Given the description of an element on the screen output the (x, y) to click on. 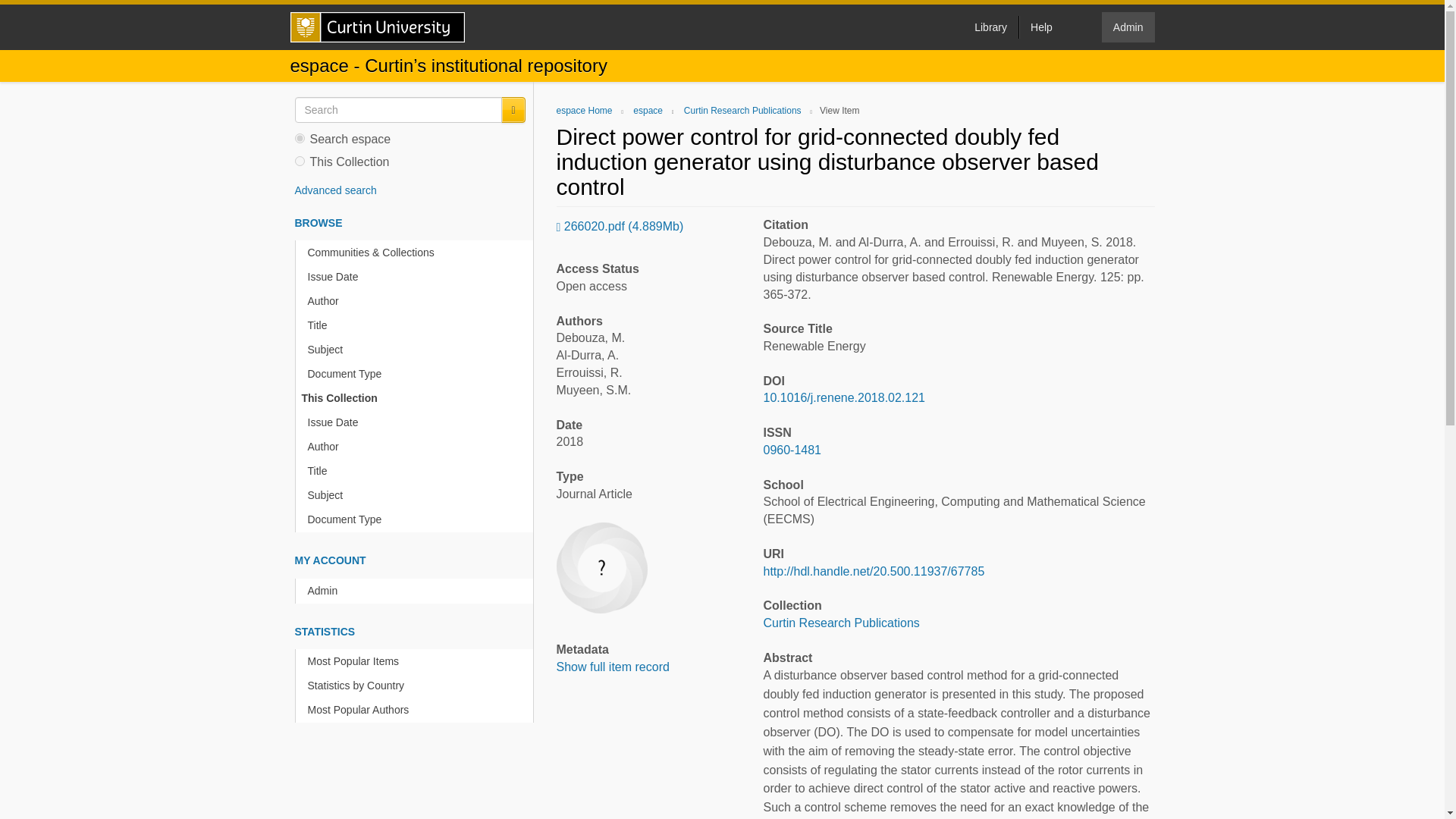
Author (416, 446)
Issue Date (416, 276)
Advanced search (334, 190)
Issue Date (416, 422)
Admin (1128, 27)
Show full item record (612, 666)
espace (647, 110)
Go (512, 109)
Subject (416, 495)
Curtin Research Publications (840, 622)
